Given the description of an element on the screen output the (x, y) to click on. 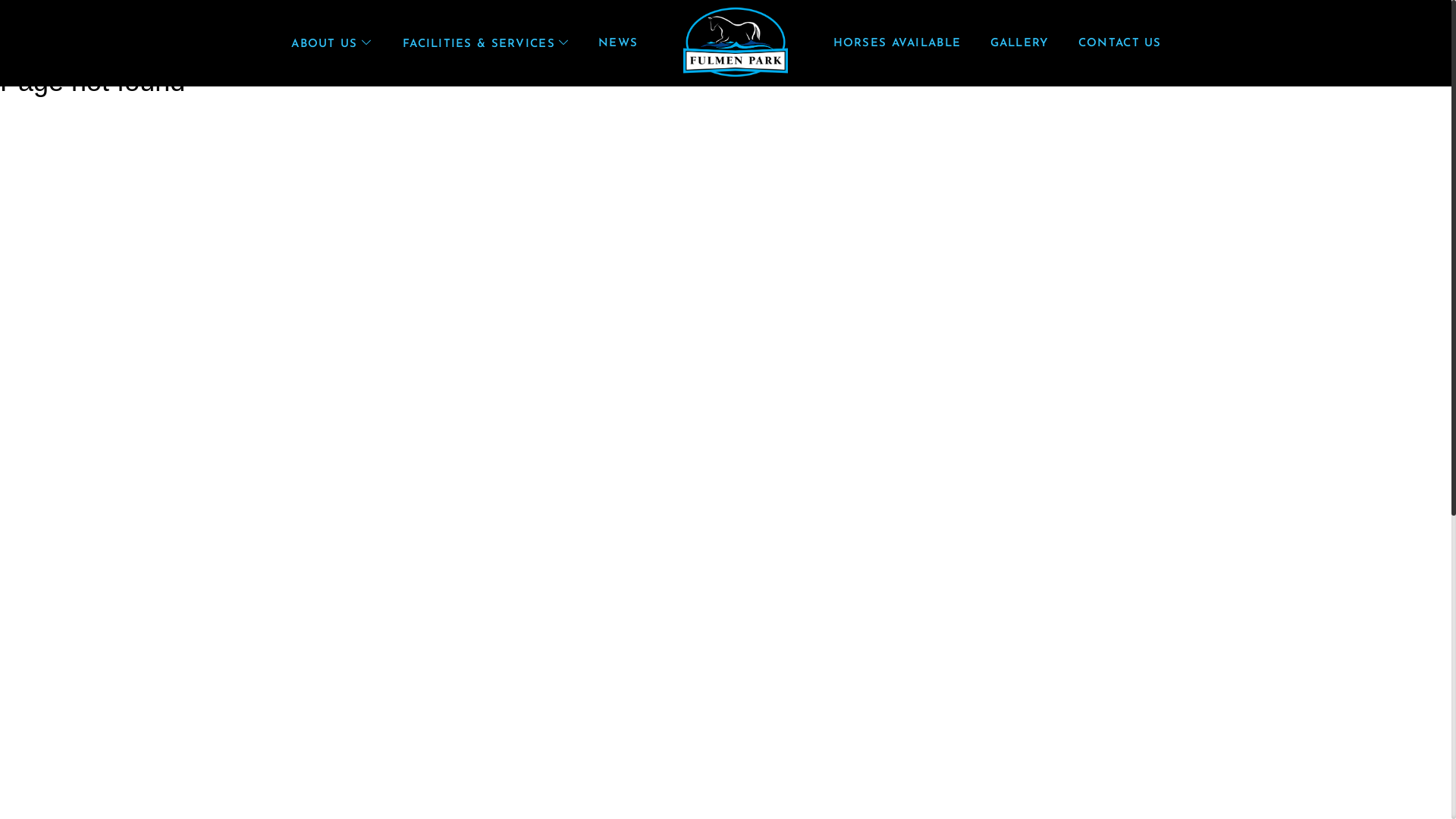
FACILITIES & SERVICES Element type: text (484, 44)
ABOUT US Element type: text (330, 44)
NEWS Element type: text (617, 43)
CONTACT US Element type: text (1119, 43)
GALLERY Element type: text (1019, 43)
HORSES AVAILABLE Element type: text (896, 43)
